Given the description of an element on the screen output the (x, y) to click on. 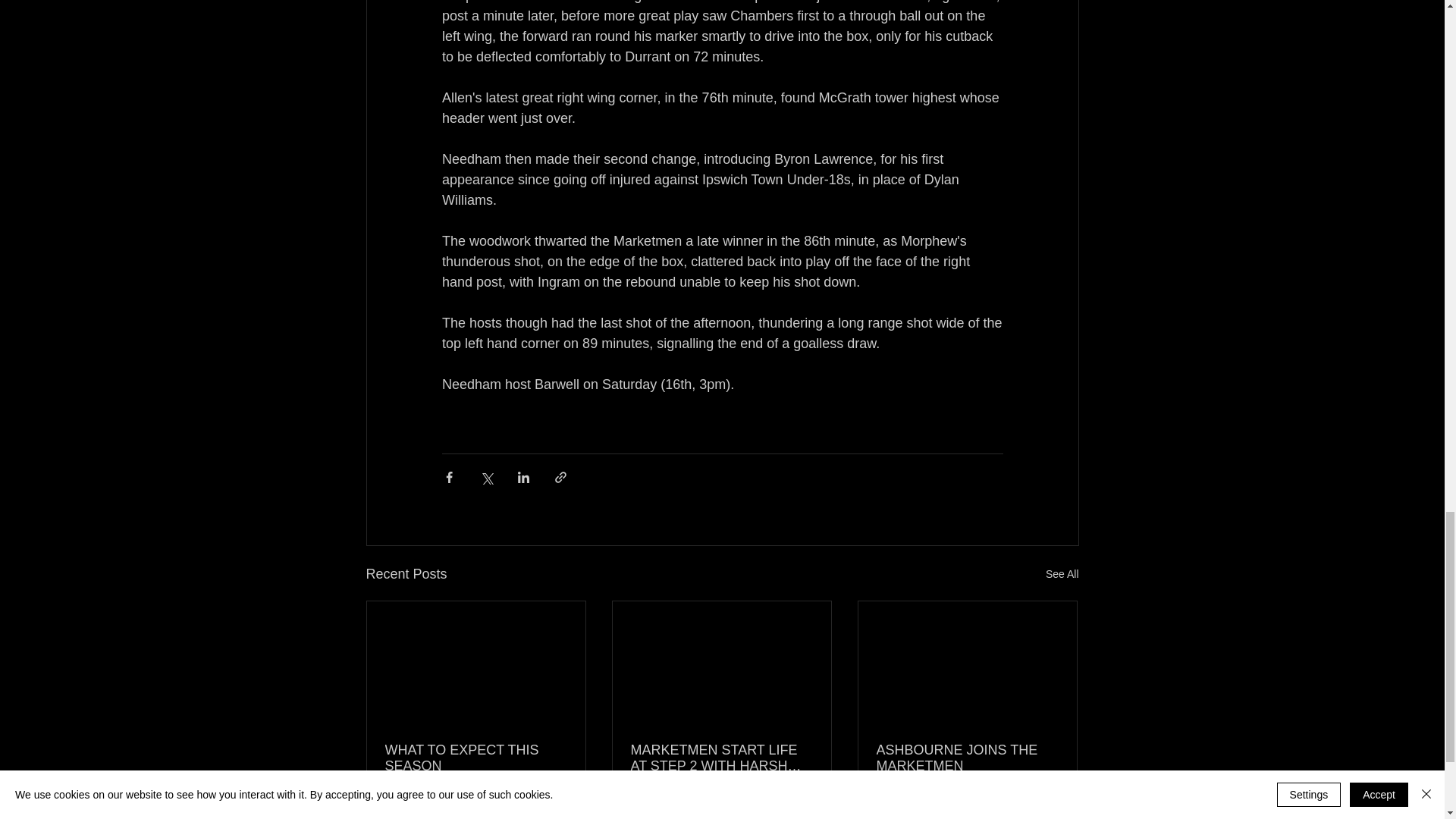
MARKETMEN START LIFE AT STEP 2 WITH HARSH DEFEAT (721, 757)
WHAT TO EXPECT THIS SEASON (476, 757)
See All (1061, 574)
ASHBOURNE JOINS THE MARKETMEN (967, 757)
